Given the description of an element on the screen output the (x, y) to click on. 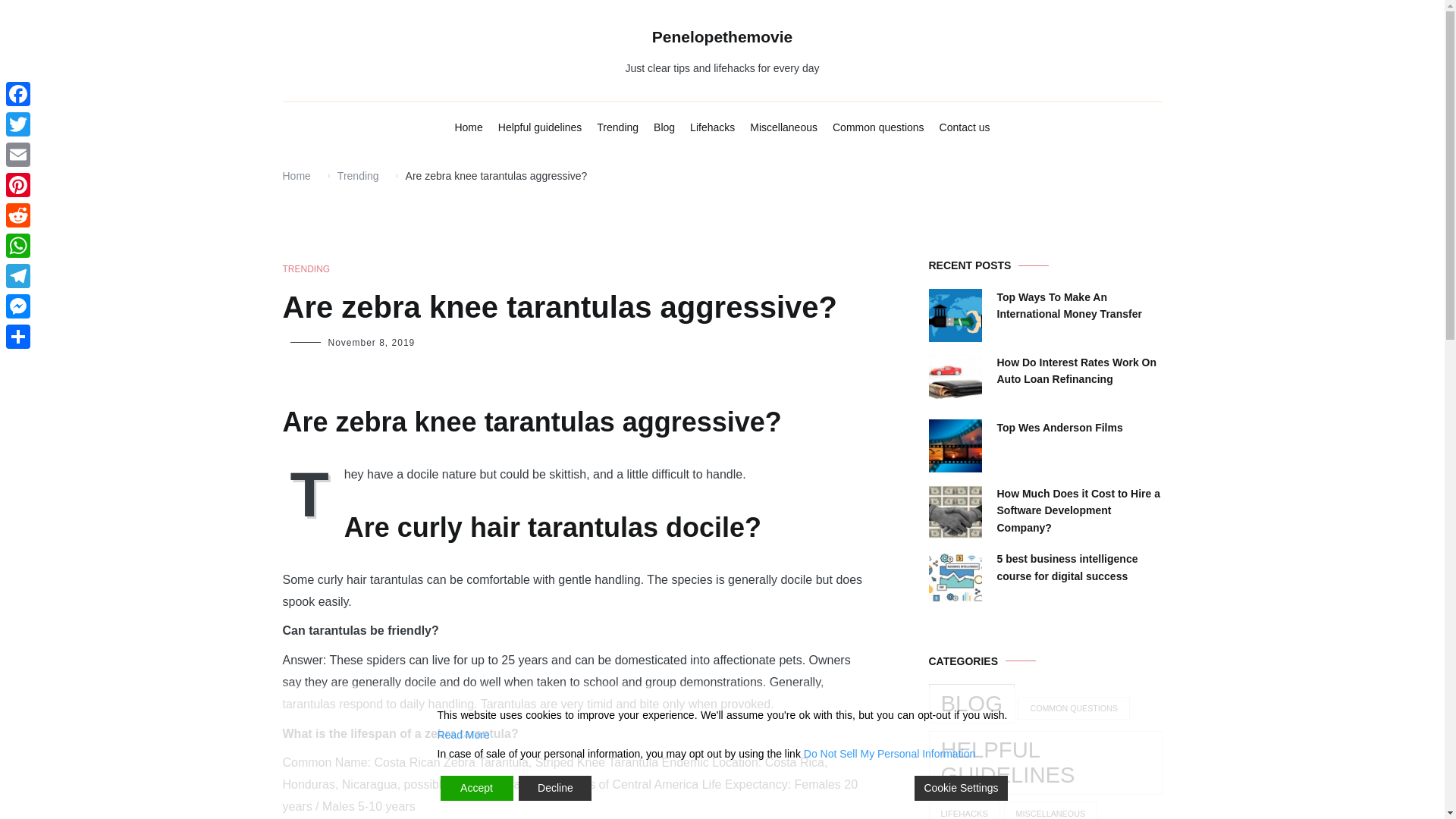
5 best business intelligence course for digital success (1078, 567)
Top Ways To Make An International Money Transfer (1078, 305)
Facebook (17, 93)
How Do Interest Rates Work On Auto Loan Refinancing (1078, 370)
Email (17, 154)
Contact us (964, 127)
Messenger (17, 306)
Lifehacks (712, 127)
Twitter (17, 123)
Pinterest (17, 184)
Helpful guidelines (539, 127)
Top Wes Anderson Films (1058, 427)
Telegram (17, 276)
Trending (617, 127)
